Given the description of an element on the screen output the (x, y) to click on. 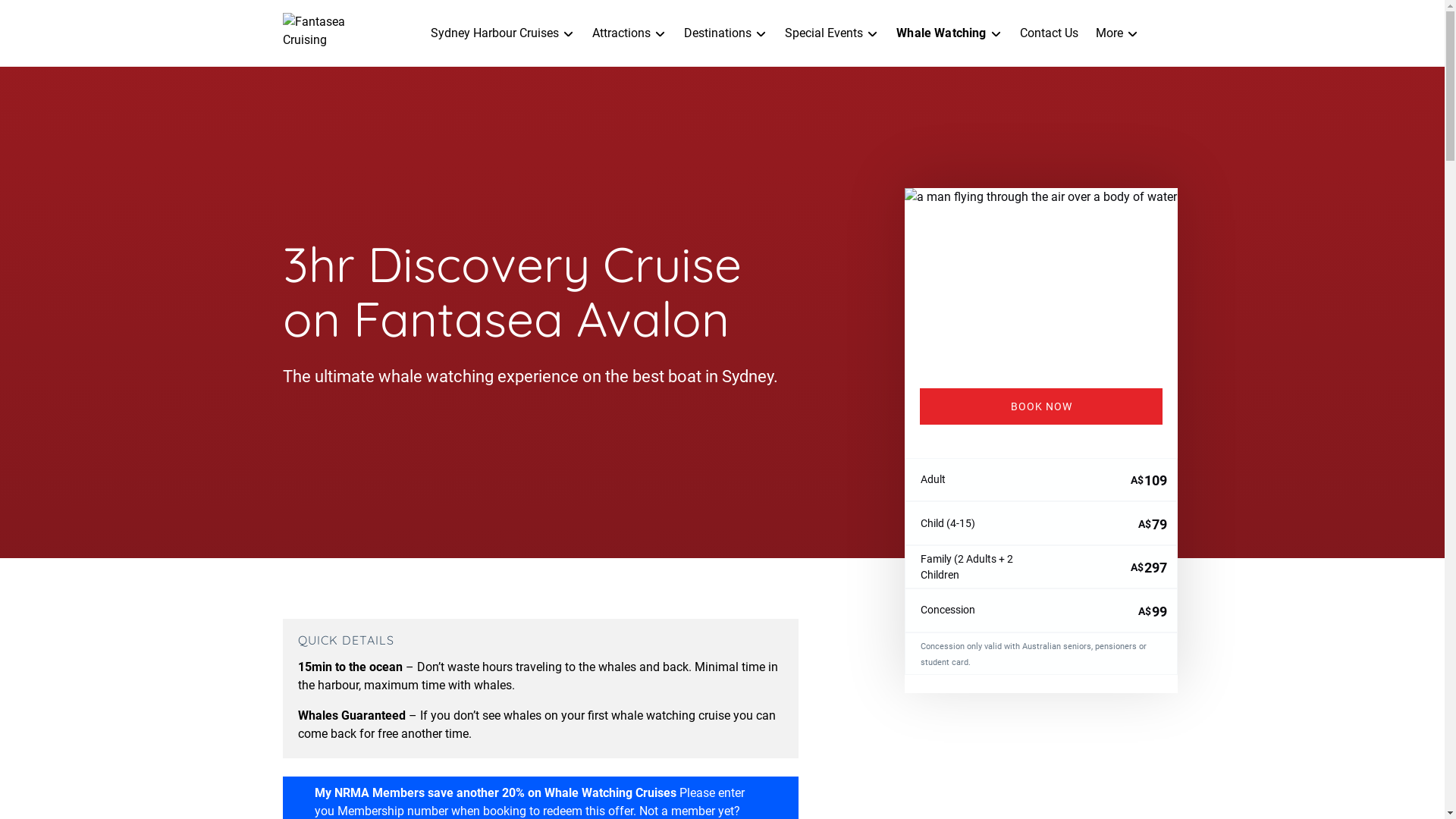
Sydney Harbour Cruises Element type: text (502, 33)
Skip to footer Element type: text (43, 16)
Special Events Element type: text (831, 33)
Skip to content Element type: text (47, 16)
Whale Watching Element type: text (948, 33)
BOOK NOW Element type: text (1040, 406)
More Element type: text (1115, 33)
Destinations Element type: text (724, 33)
Skip to primary navigation Element type: text (77, 16)
Contact Us Element type: text (1048, 33)
Attractions Element type: text (628, 33)
